Given the description of an element on the screen output the (x, y) to click on. 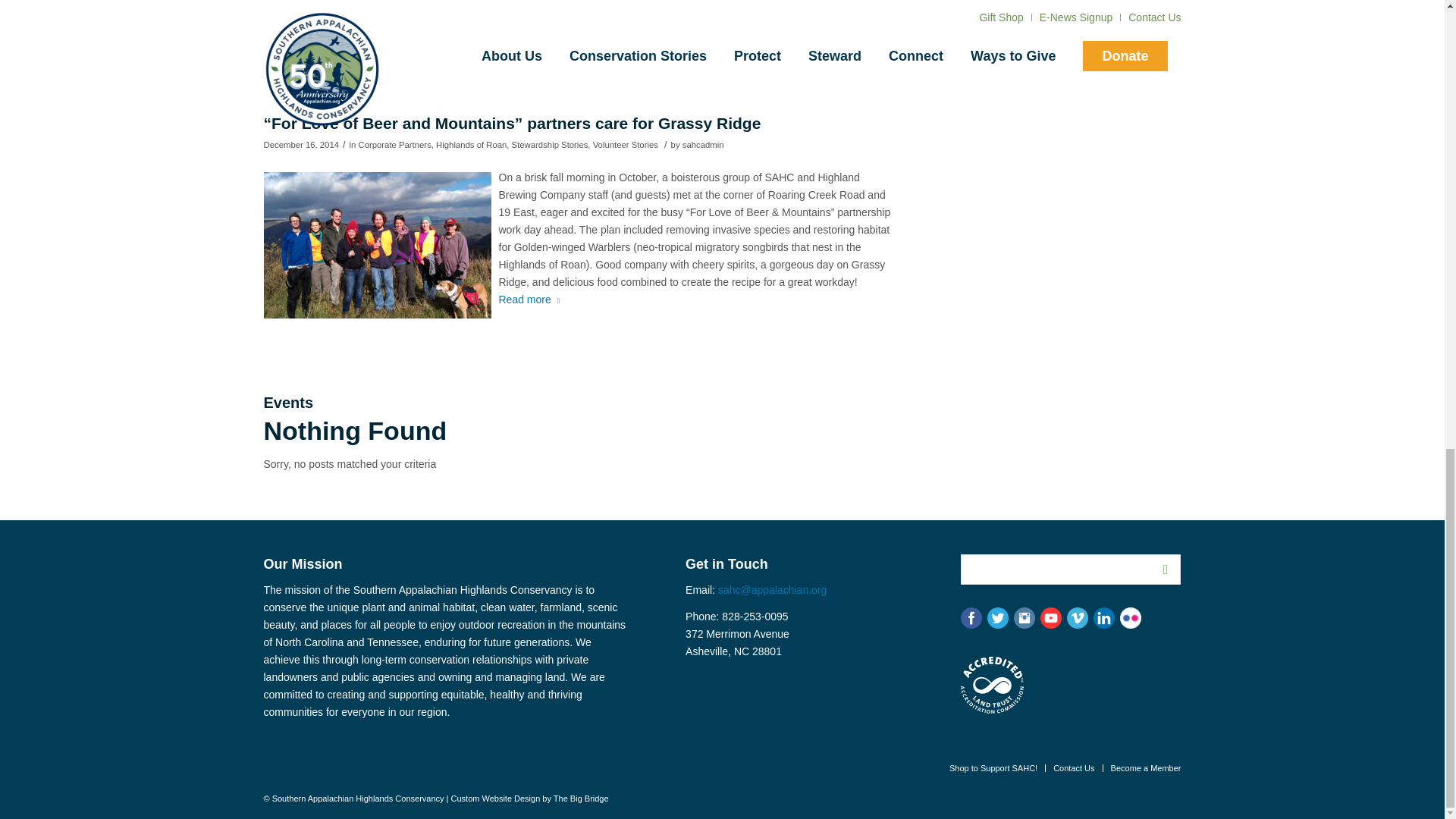
Posts by sahcadmin (702, 144)
